Given the description of an element on the screen output the (x, y) to click on. 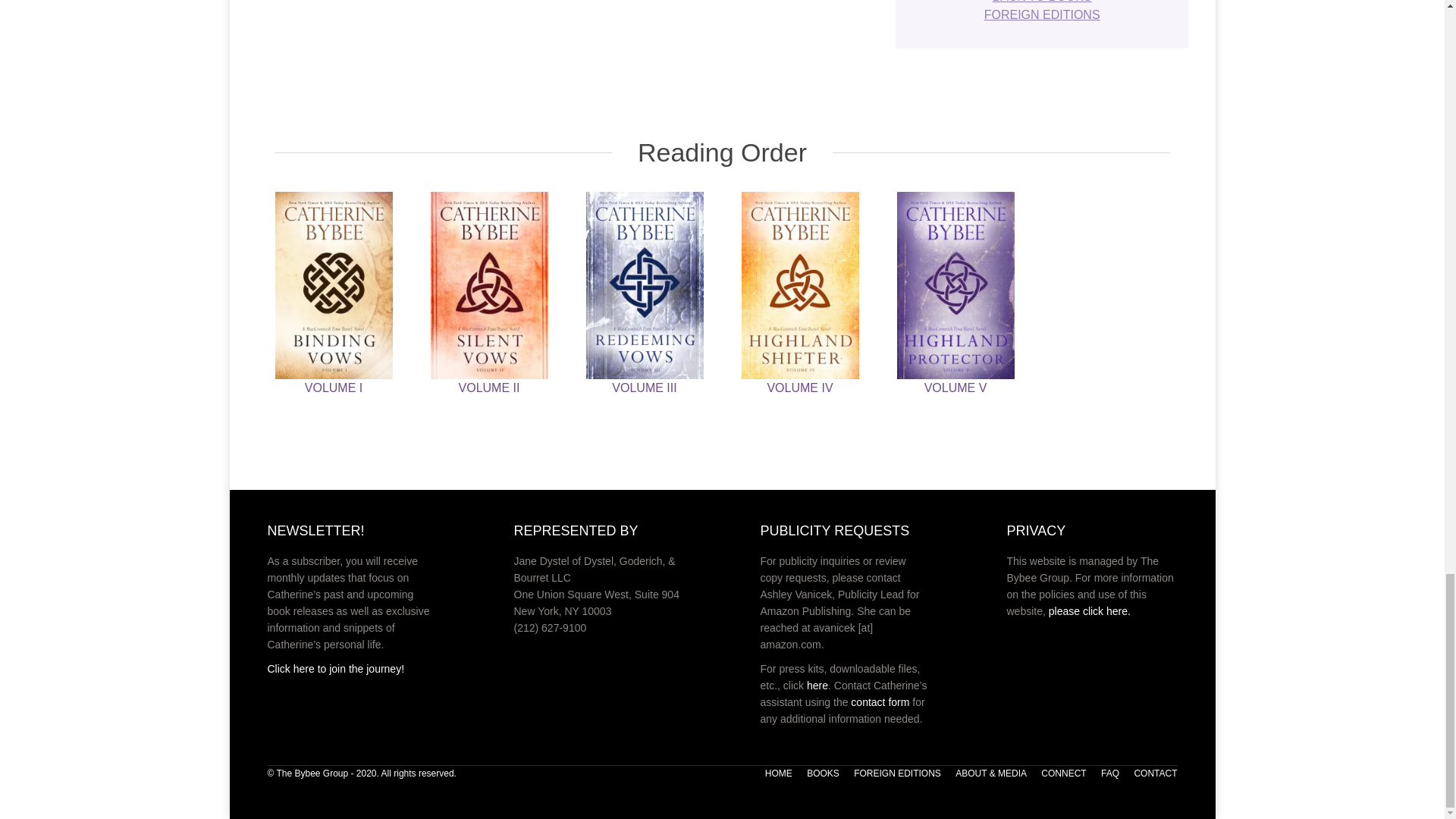
HOME (778, 773)
FOREIGN EDITIONS (896, 773)
FOREIGN EDITIONS (1042, 13)
FAQ (1109, 773)
here (817, 685)
contact form (879, 702)
Click here to join the journey! (335, 668)
CONTACT (1155, 773)
BOOKS (823, 773)
BACK TO BOOKS (1042, 1)
